Given the description of an element on the screen output the (x, y) to click on. 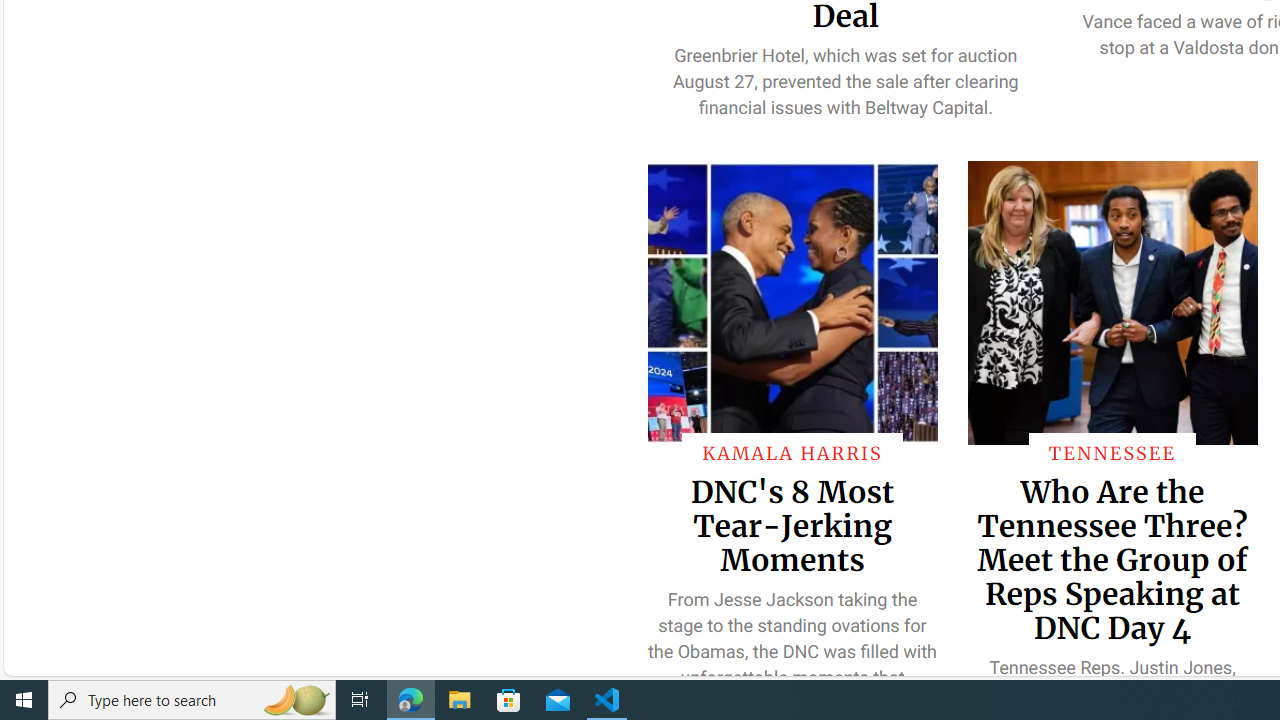
File Explorer (460, 699)
Search highlights icon opens search home window (295, 699)
DNC's 8 Most Tear-Jerking Moments (791, 525)
Microsoft Store (509, 699)
Microsoft Edge - 1 running window (411, 699)
Visual Studio Code - 1 running window (607, 699)
Start (24, 699)
TENNESSEE (1112, 452)
Task View (359, 699)
Type here to search (191, 699)
KAMALA HARRIS (792, 452)
